Given the description of an element on the screen output the (x, y) to click on. 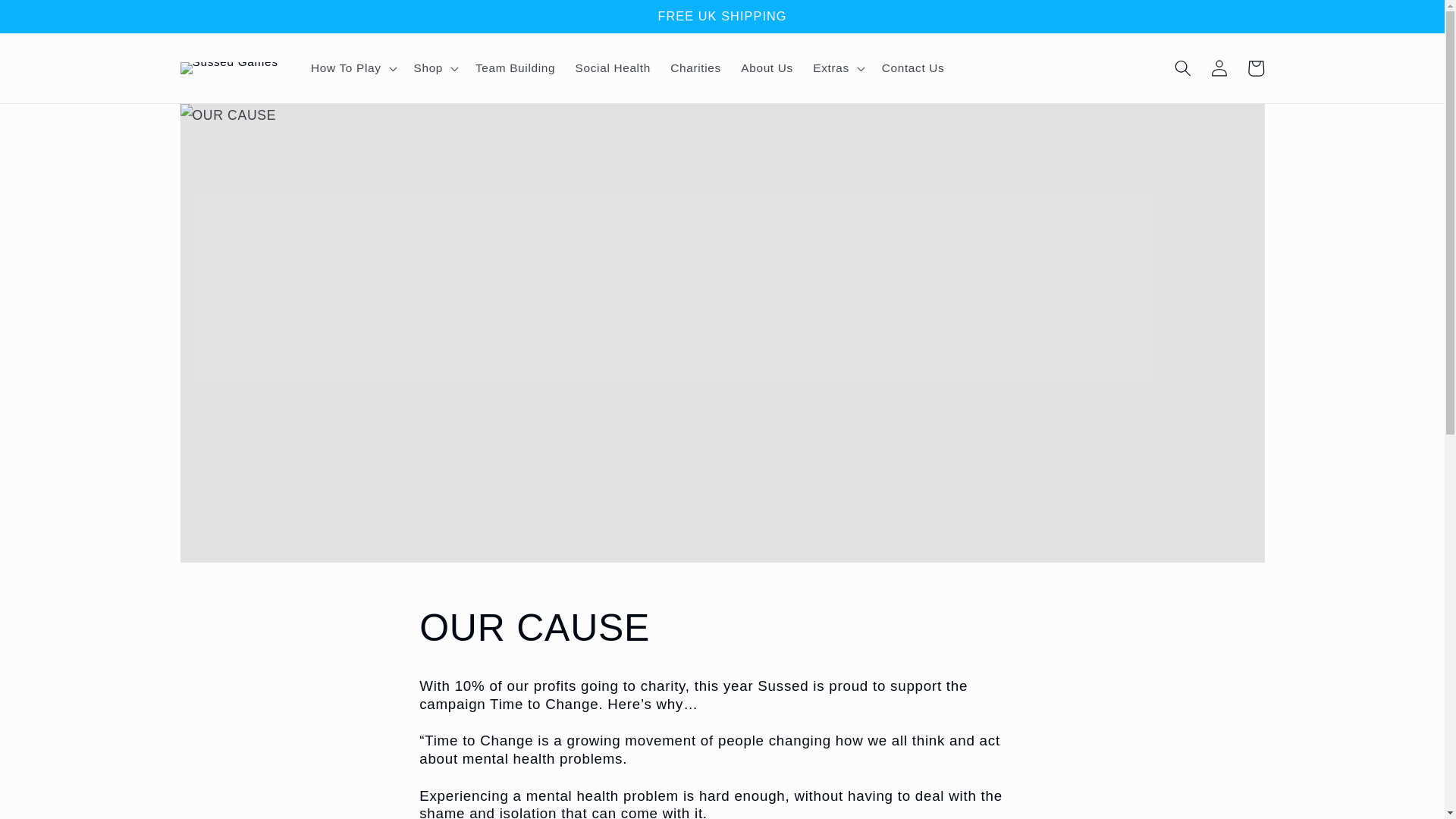
Team Building (515, 67)
About Us (766, 67)
Skip to content (50, 19)
Log in (1219, 67)
Social Health (612, 67)
Cart (1255, 67)
Charities (695, 67)
Contact Us (913, 67)
